Given the description of an element on the screen output the (x, y) to click on. 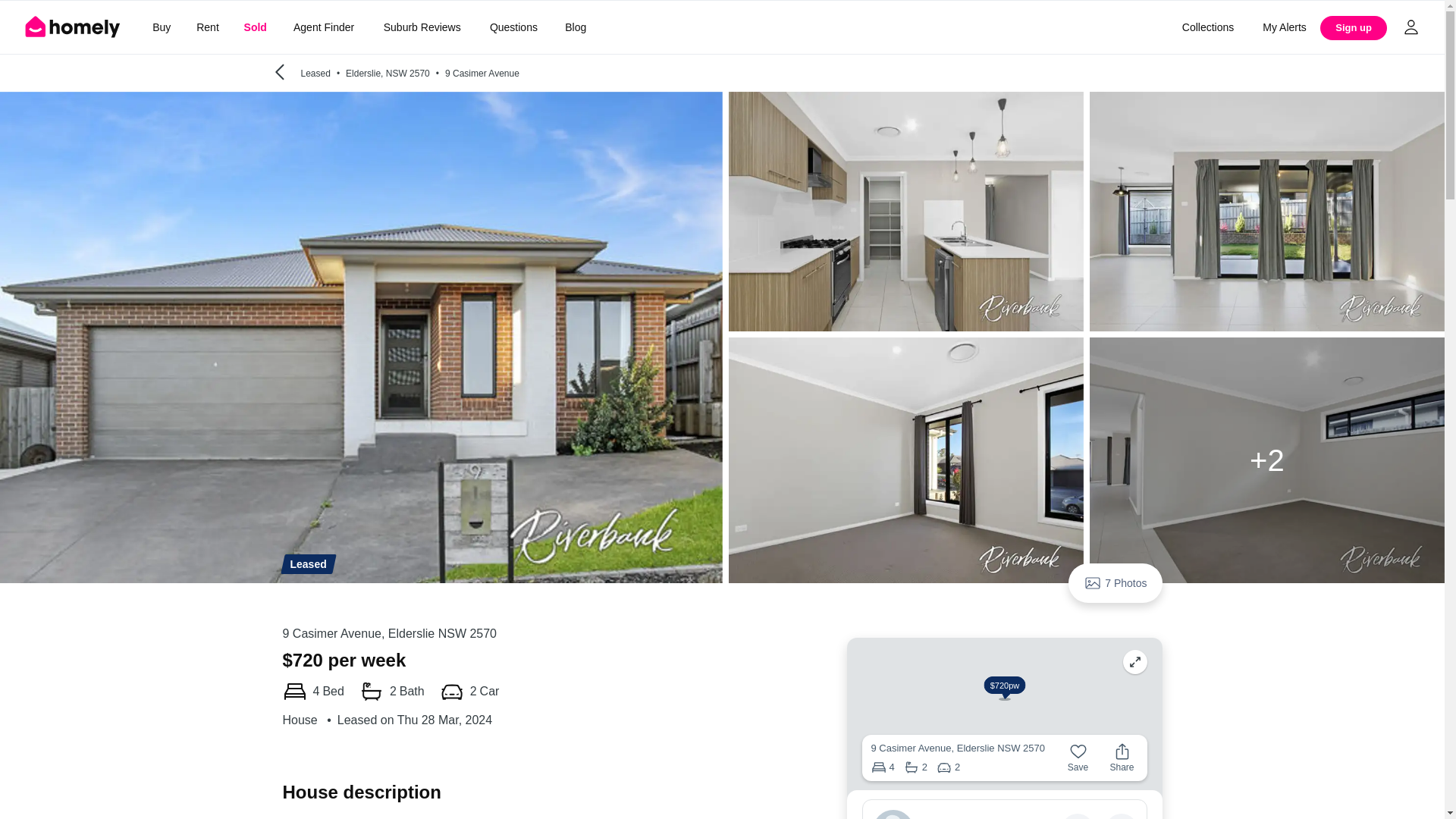
Collections (1207, 27)
Questions (513, 27)
Sign up (1353, 27)
Blog (575, 27)
Buy (161, 27)
Suburb Reviews (422, 27)
Sold (255, 27)
Sold (255, 27)
Blog (575, 27)
Buy (161, 27)
Agent Finder (323, 27)
Collections (1207, 27)
7 Photos (1114, 583)
Homely (72, 27)
Questions (513, 27)
